Given the description of an element on the screen output the (x, y) to click on. 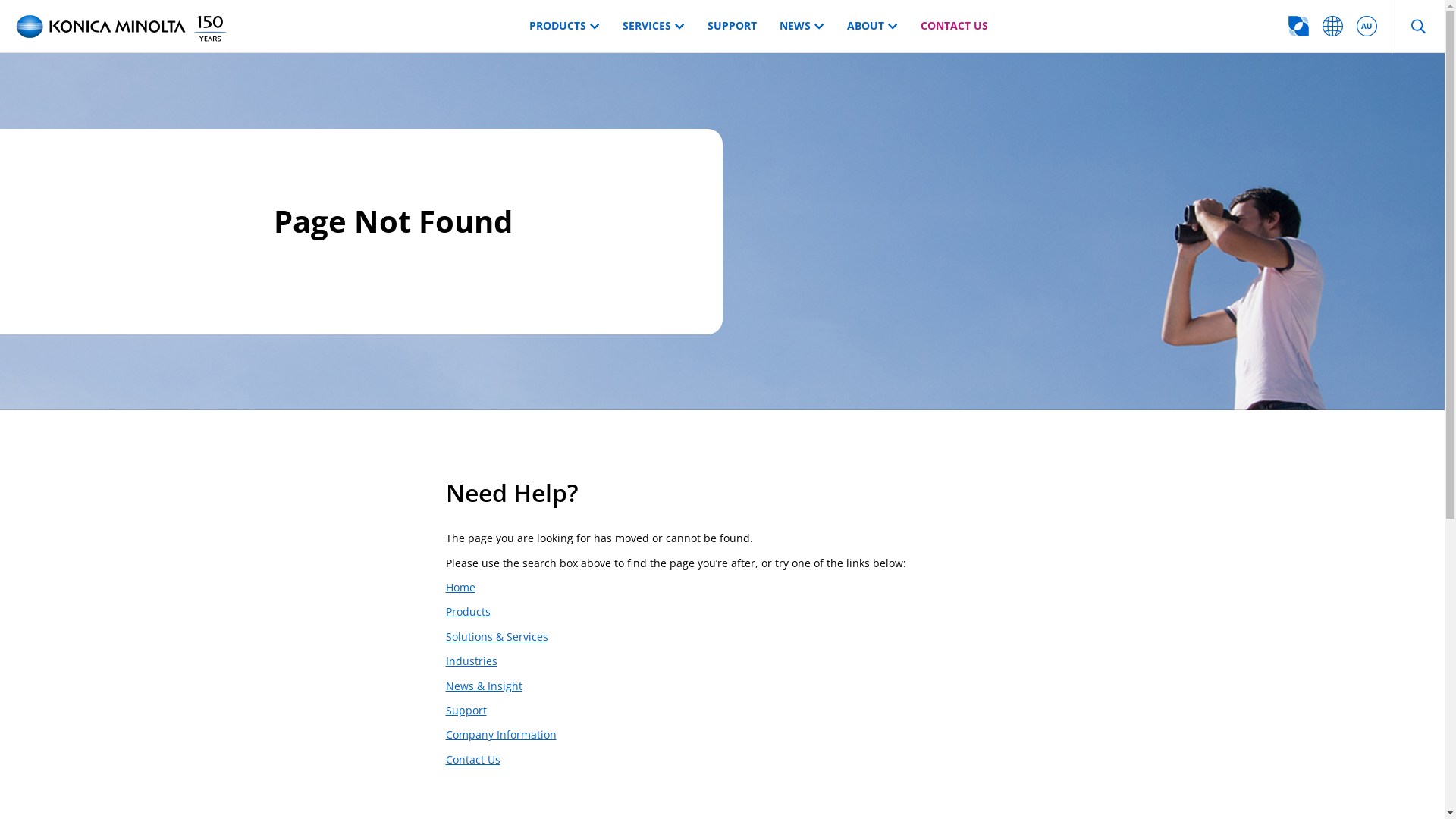
News & Insight Element type: text (483, 685)
NEWS Element type: text (801, 26)
Home Element type: text (460, 587)
Products Element type: text (467, 611)
Industries Element type: text (471, 660)
ABOUT Element type: text (871, 26)
CONTACT US Element type: text (954, 26)
Company Information Element type: text (500, 734)
Solutions & Services Element type: text (496, 636)
SUPPORT Element type: text (731, 26)
Insight Hub Element type: hover (1298, 26)
Support Element type: text (465, 709)
Contact Us Element type: text (472, 759)
